Given the description of an element on the screen output the (x, y) to click on. 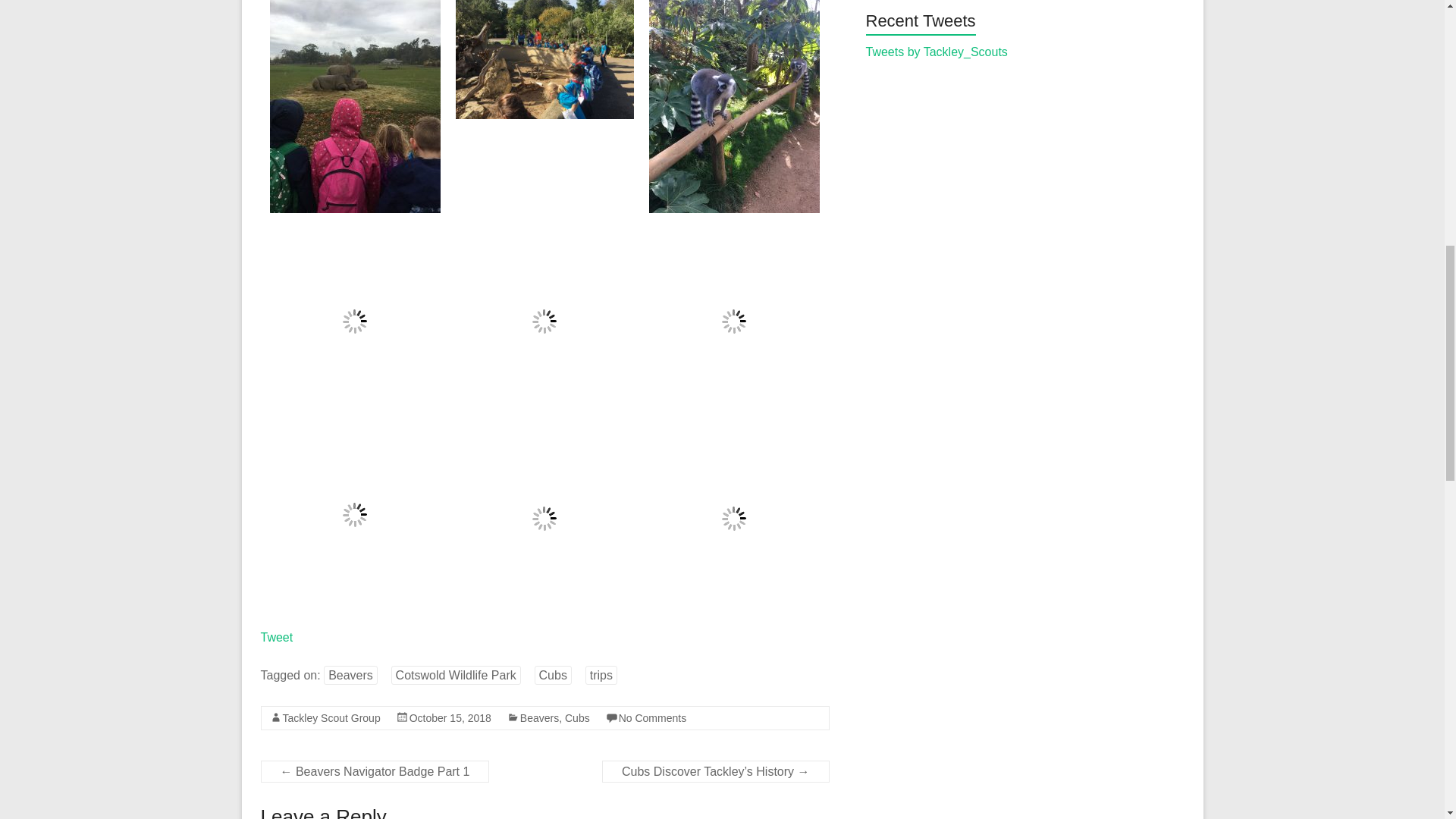
trips (601, 674)
Tackley Scout Group (331, 717)
11:32 am (450, 717)
No Comments (651, 717)
Cubs (553, 674)
October 15, 2018 (450, 717)
Beavers (350, 674)
Cotswold Wildlife Park (456, 674)
Cubs (576, 717)
Tweet (277, 636)
